Given the description of an element on the screen output the (x, y) to click on. 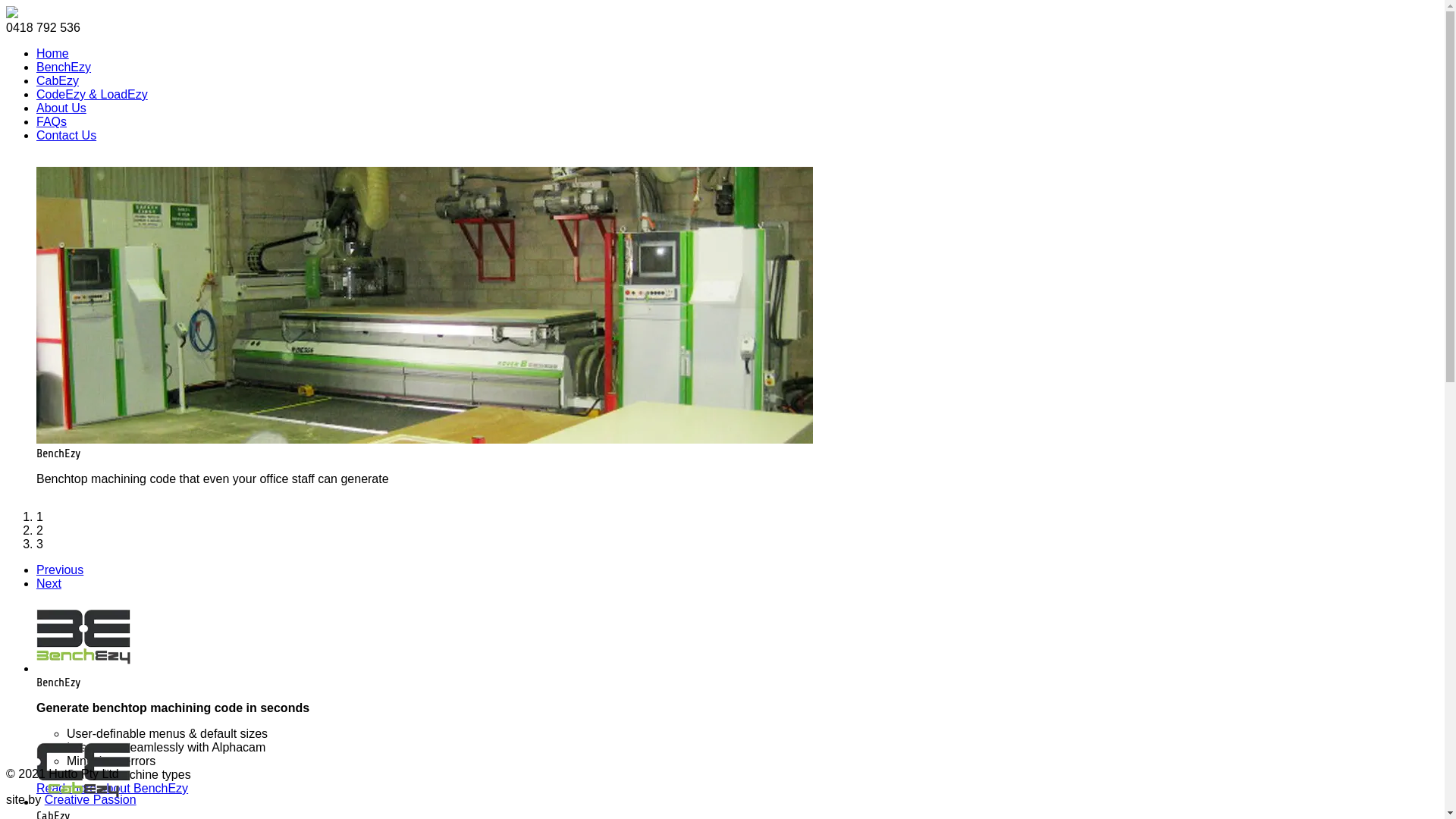
Contact Us Element type: text (66, 134)
BenchEzy Element type: text (63, 66)
Home Element type: text (52, 53)
2 Element type: text (39, 530)
CabEzy Element type: text (57, 80)
FAQs Element type: text (51, 121)
Creative Passion Element type: text (90, 799)
Previous Element type: text (59, 569)
Read more about BenchEzy Element type: text (112, 787)
3 Element type: text (39, 543)
1 Element type: text (39, 516)
Next Element type: text (48, 583)
CodeEzy & LoadEzy Element type: text (91, 93)
About Us Element type: text (61, 107)
